Given the description of an element on the screen output the (x, y) to click on. 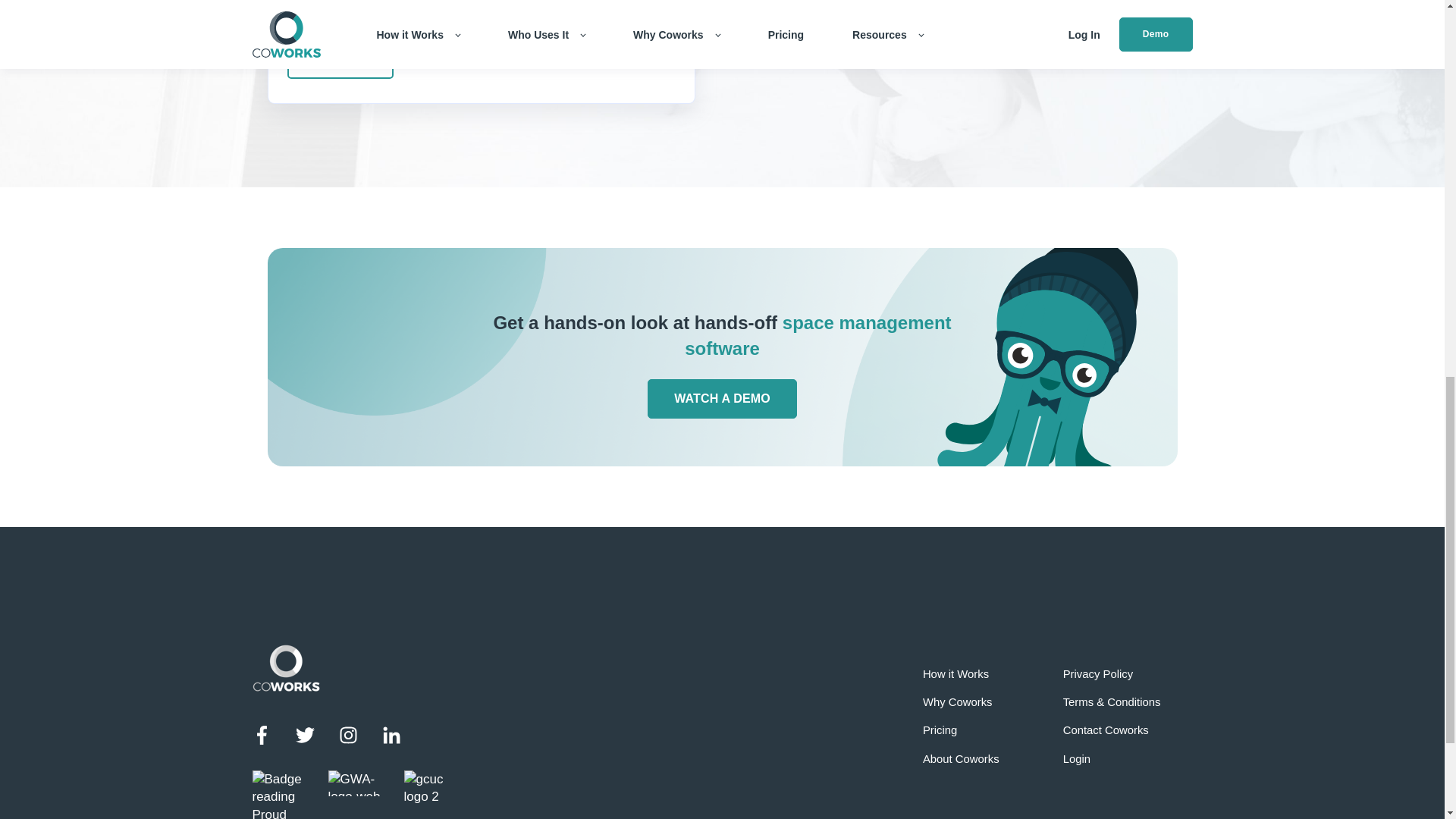
Join Up (814, 21)
READ MORE (339, 59)
